Given the description of an element on the screen output the (x, y) to click on. 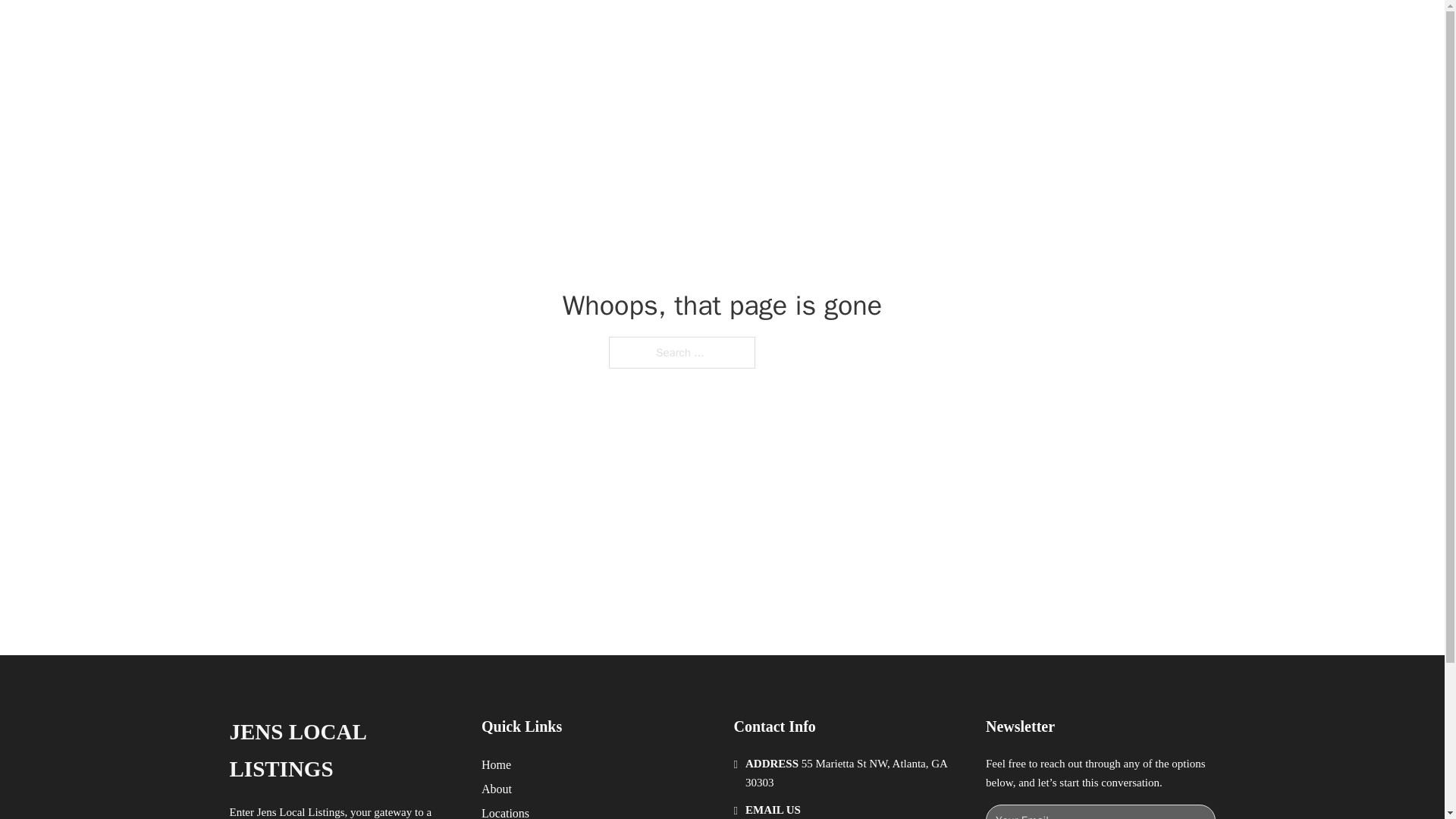
Locations (505, 811)
JENS LOCAL LISTINGS (419, 28)
JENS LOCAL LISTINGS (343, 750)
LOCATIONS (990, 29)
About (496, 788)
HOME (919, 29)
Home (496, 764)
